Given the description of an element on the screen output the (x, y) to click on. 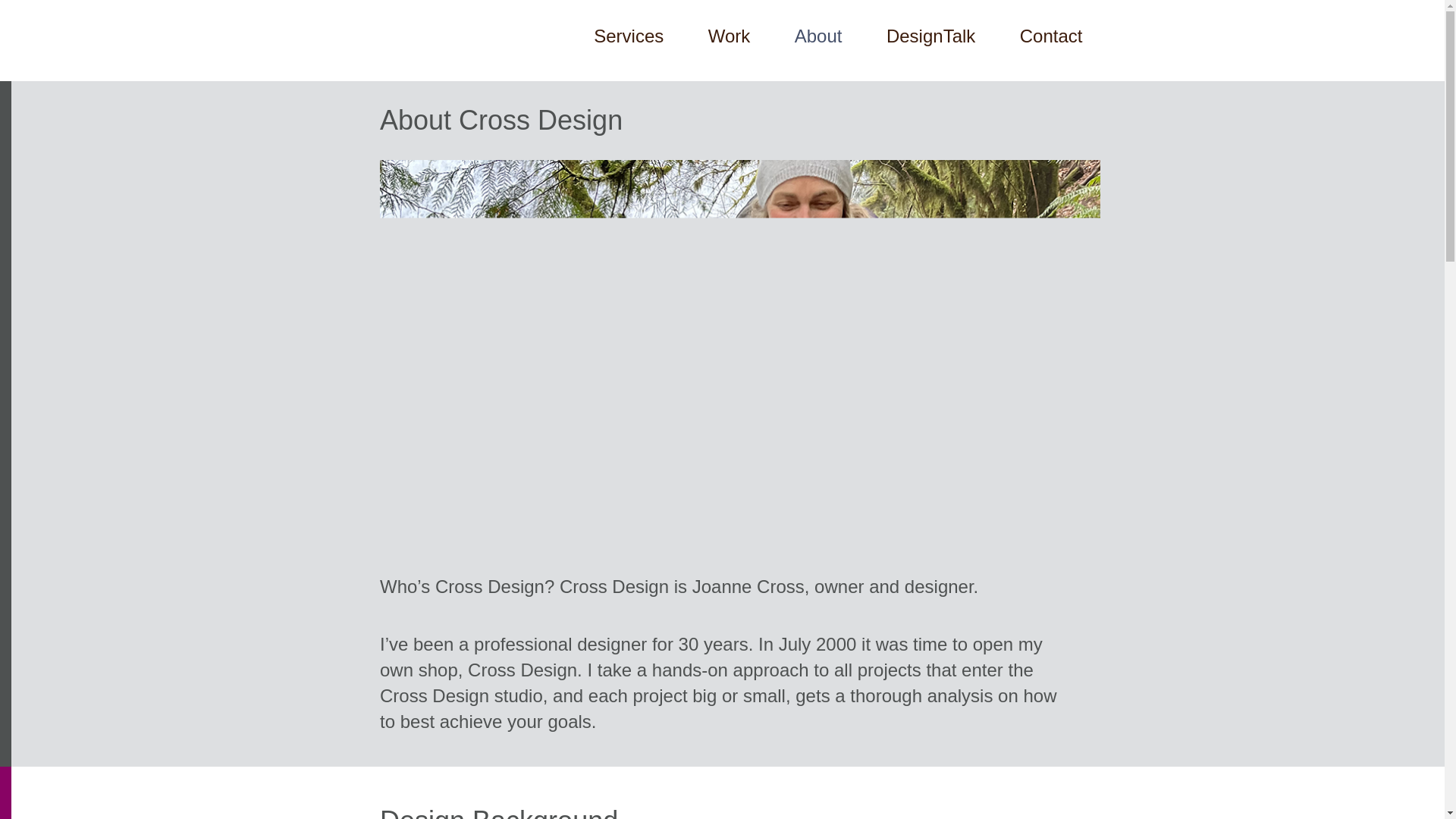
DesignTalk (930, 51)
Contact (1050, 51)
About (818, 51)
Services (628, 51)
Work (729, 51)
